Given the description of an element on the screen output the (x, y) to click on. 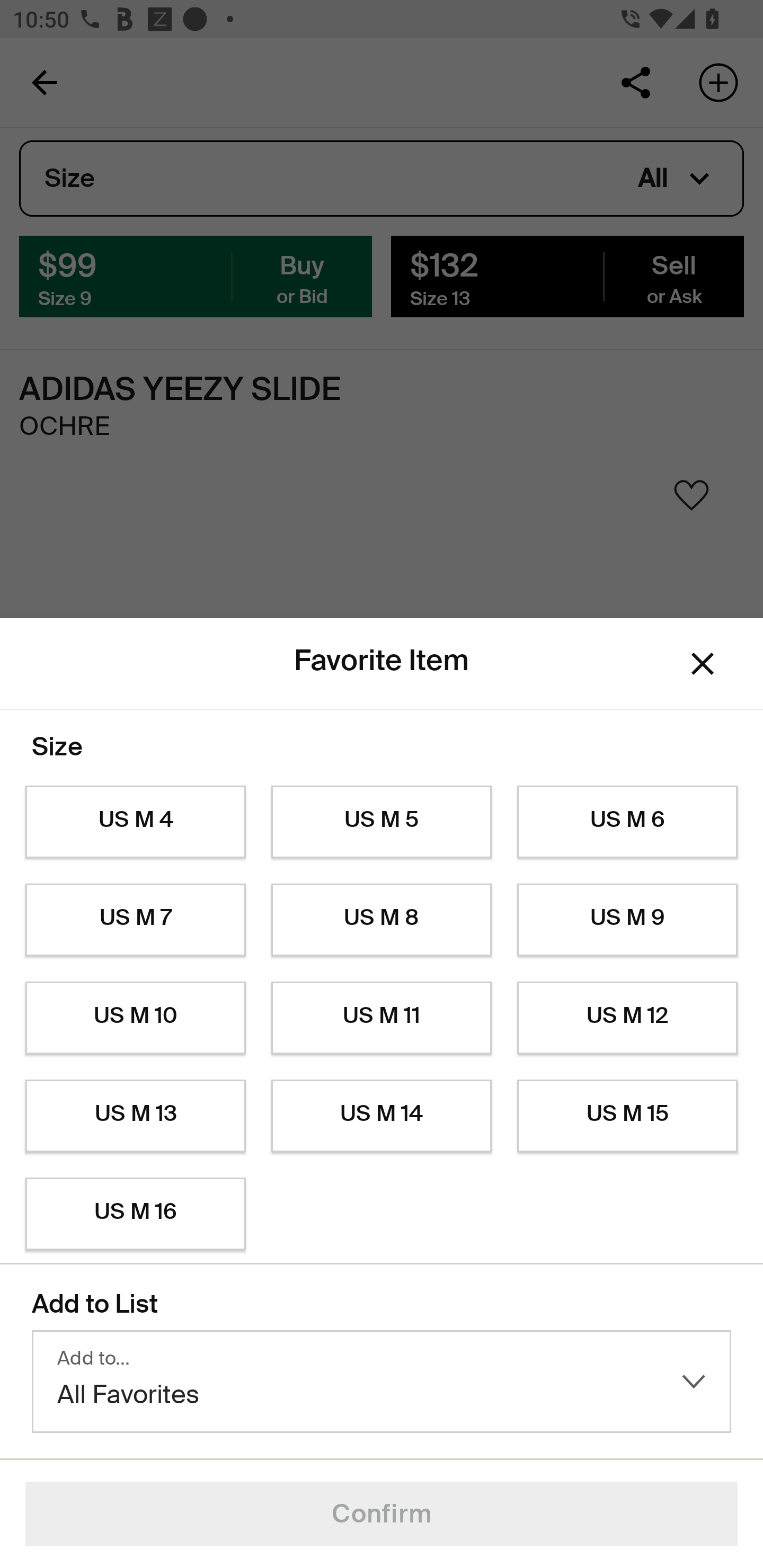
Dismiss (702, 663)
US M 4 (135, 822)
US M 5 (381, 822)
US M 6 (627, 822)
US M 7 (135, 919)
US M 8 (381, 919)
US M 9 (627, 919)
US M 10 (135, 1018)
US M 11 (381, 1018)
US M 12 (627, 1018)
US M 13 (135, 1116)
US M 14 (381, 1116)
US M 15 (627, 1116)
US M 16 (135, 1214)
Add to… All Favorites (381, 1381)
Confirm (381, 1513)
